Given the description of an element on the screen output the (x, y) to click on. 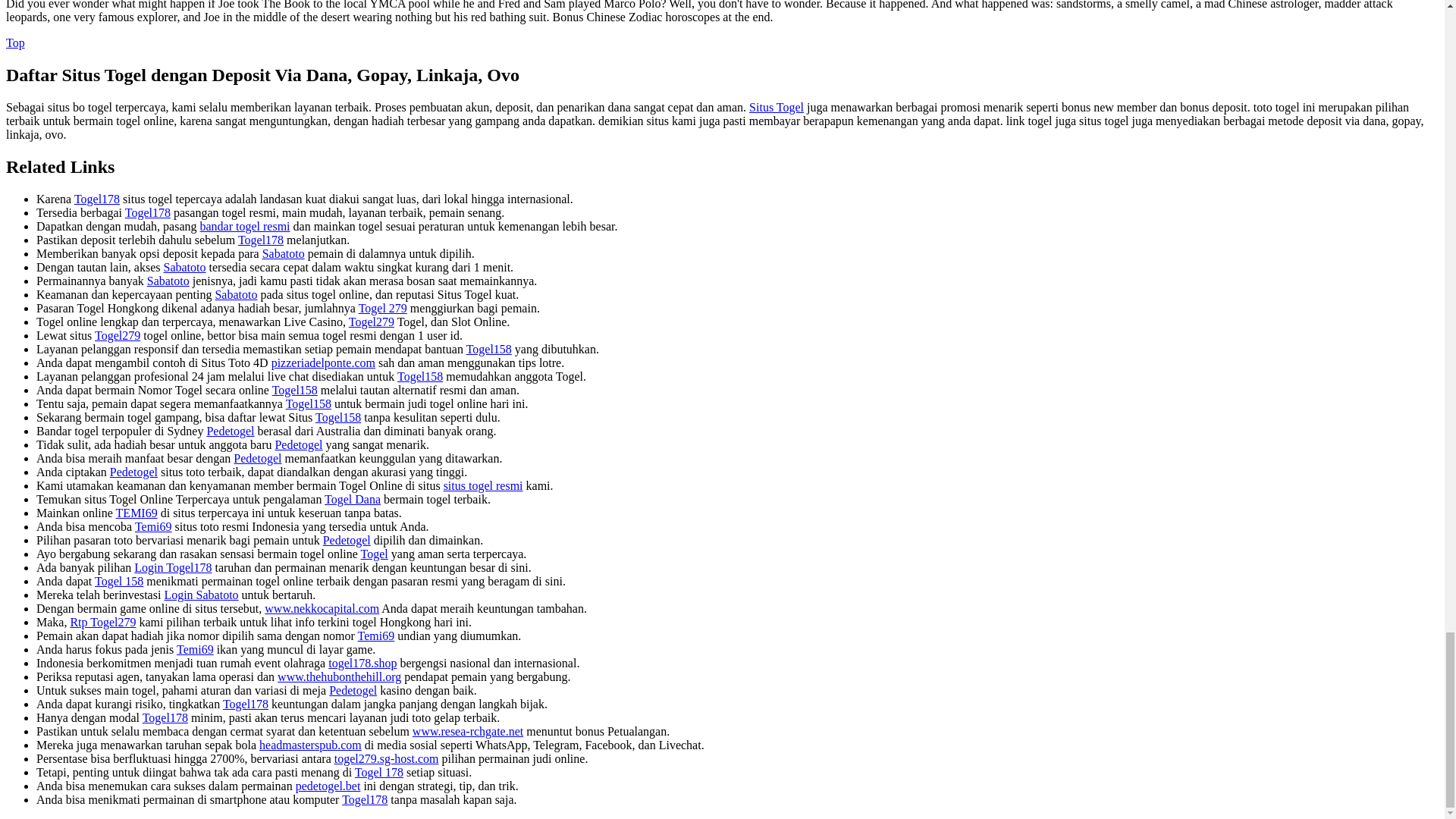
Situs Togel (776, 106)
Togel279 (116, 335)
bandar togel resmi (244, 226)
Pedetogel (256, 458)
Togel158 (488, 349)
Togel178 (96, 198)
Sabatoto (235, 294)
Togel158 (419, 376)
Sabatoto (168, 280)
Togel158 (338, 417)
